Given the description of an element on the screen output the (x, y) to click on. 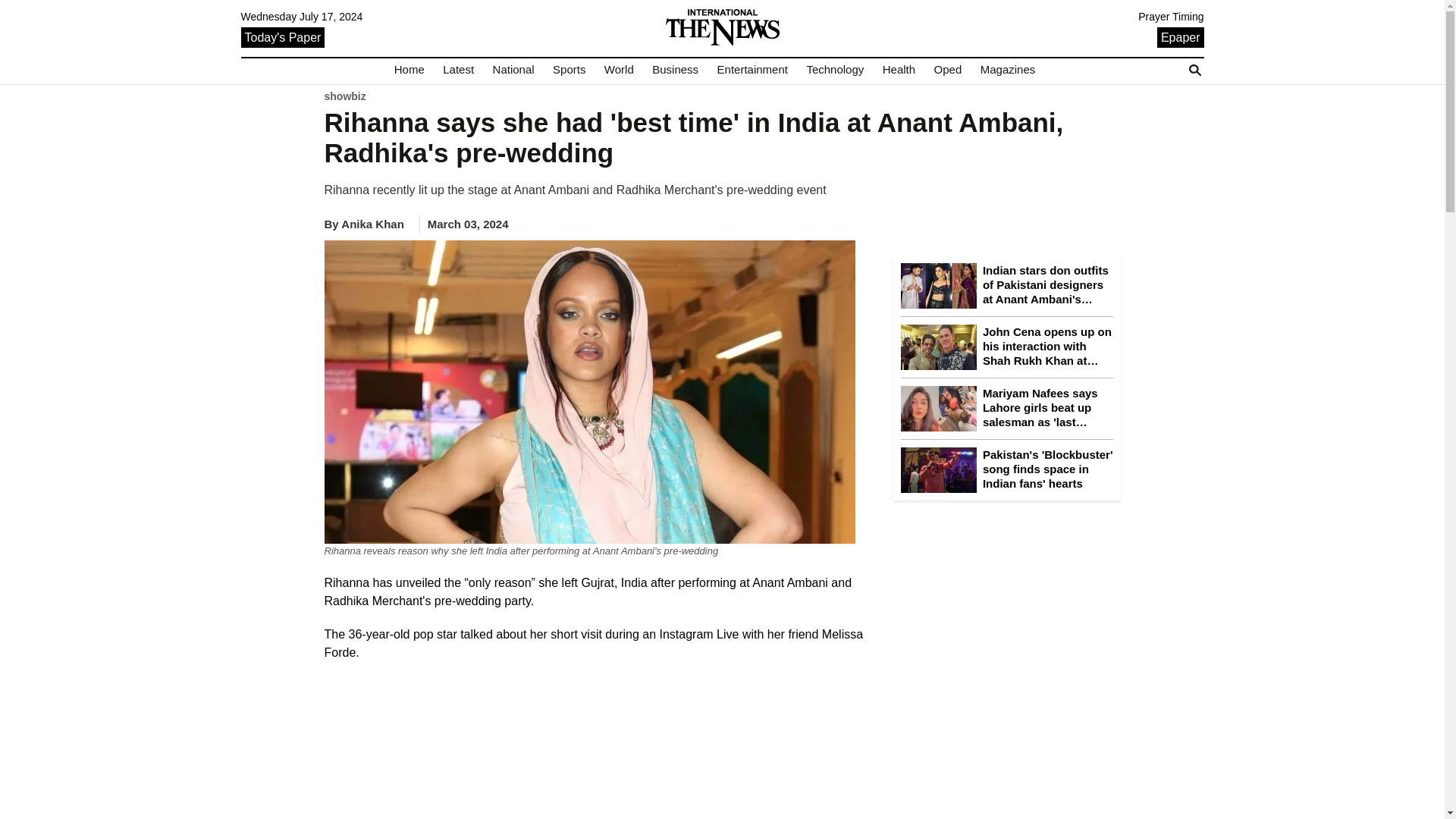
Home (409, 69)
Today's Paper (282, 37)
World (619, 69)
Health (899, 69)
Sports (568, 69)
Epaper (1180, 37)
Latest (458, 69)
Business (675, 69)
Entertainment (752, 69)
National (512, 69)
Technology (833, 69)
Prayer Timing (1171, 16)
